Given the description of an element on the screen output the (x, y) to click on. 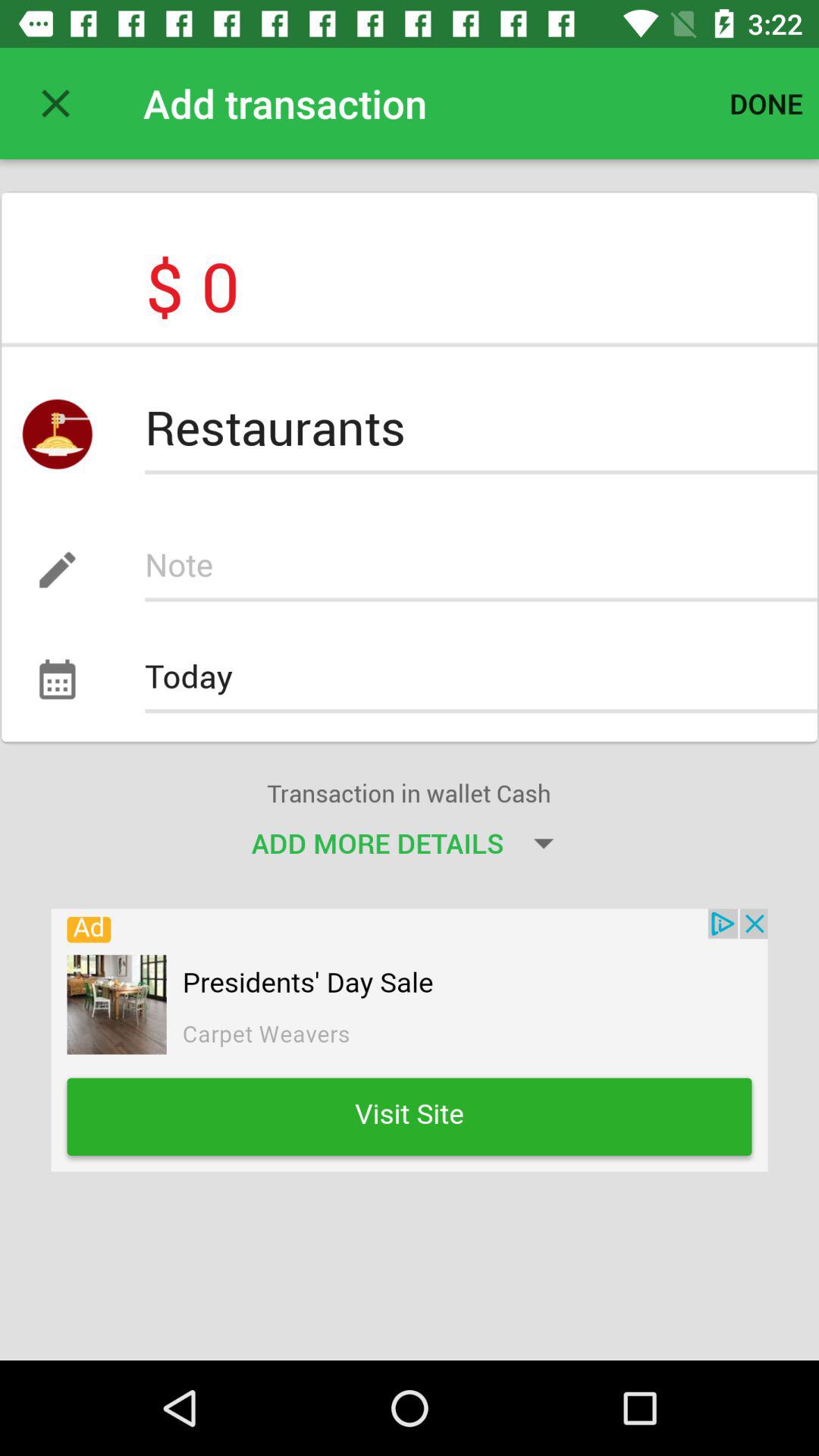
opens an advertisement (409, 1039)
